Given the description of an element on the screen output the (x, y) to click on. 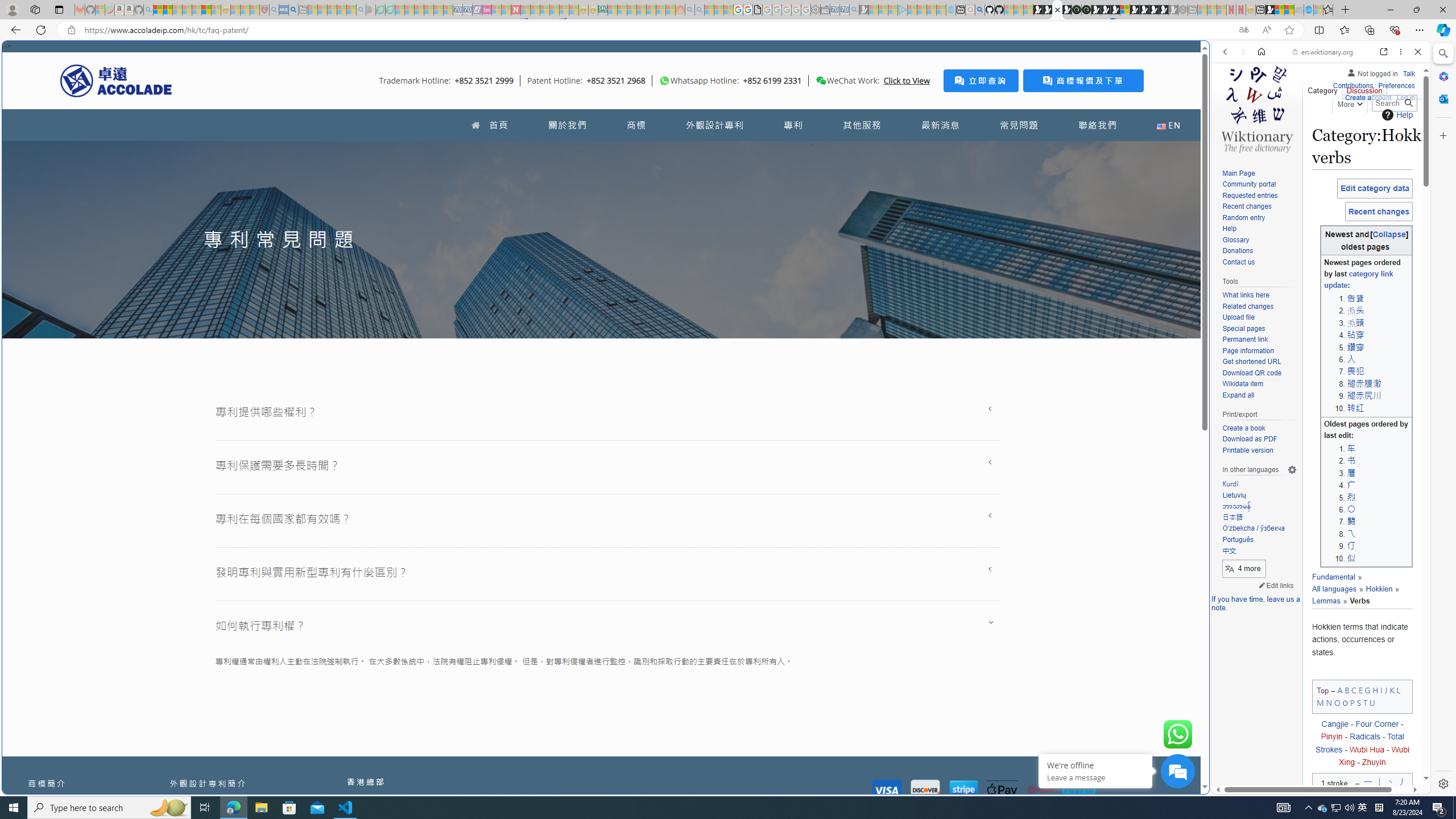
Download QR code (1251, 372)
Go (1408, 102)
EN (1168, 124)
If you have time, leave us a note. (1255, 603)
M (1319, 701)
Wubi Hua (1366, 749)
G (1367, 689)
